Given the description of an element on the screen output the (x, y) to click on. 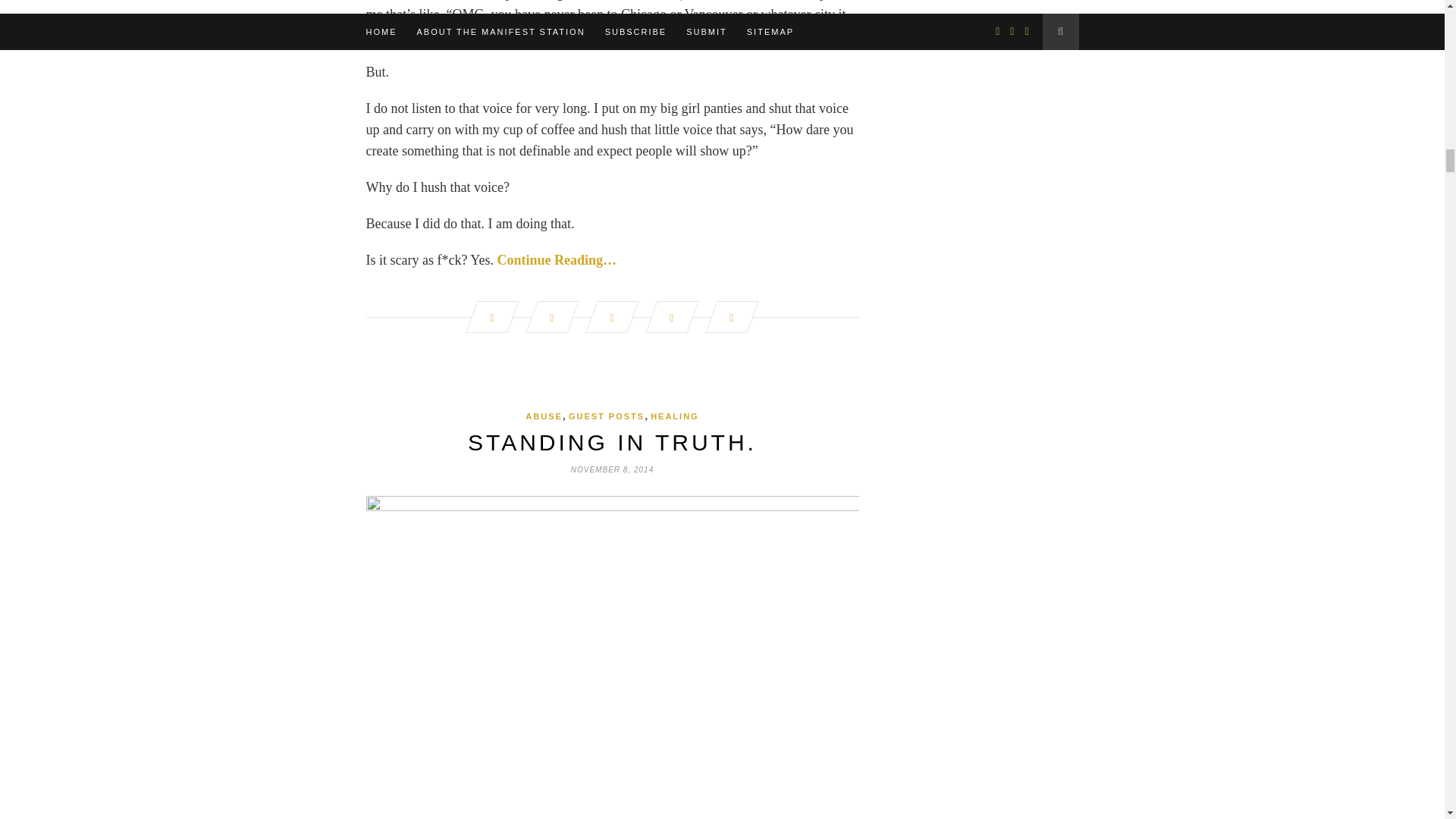
View all posts in healing (674, 415)
View all posts in Abuse (543, 415)
View all posts in Guest Posts (607, 415)
